Given the description of an element on the screen output the (x, y) to click on. 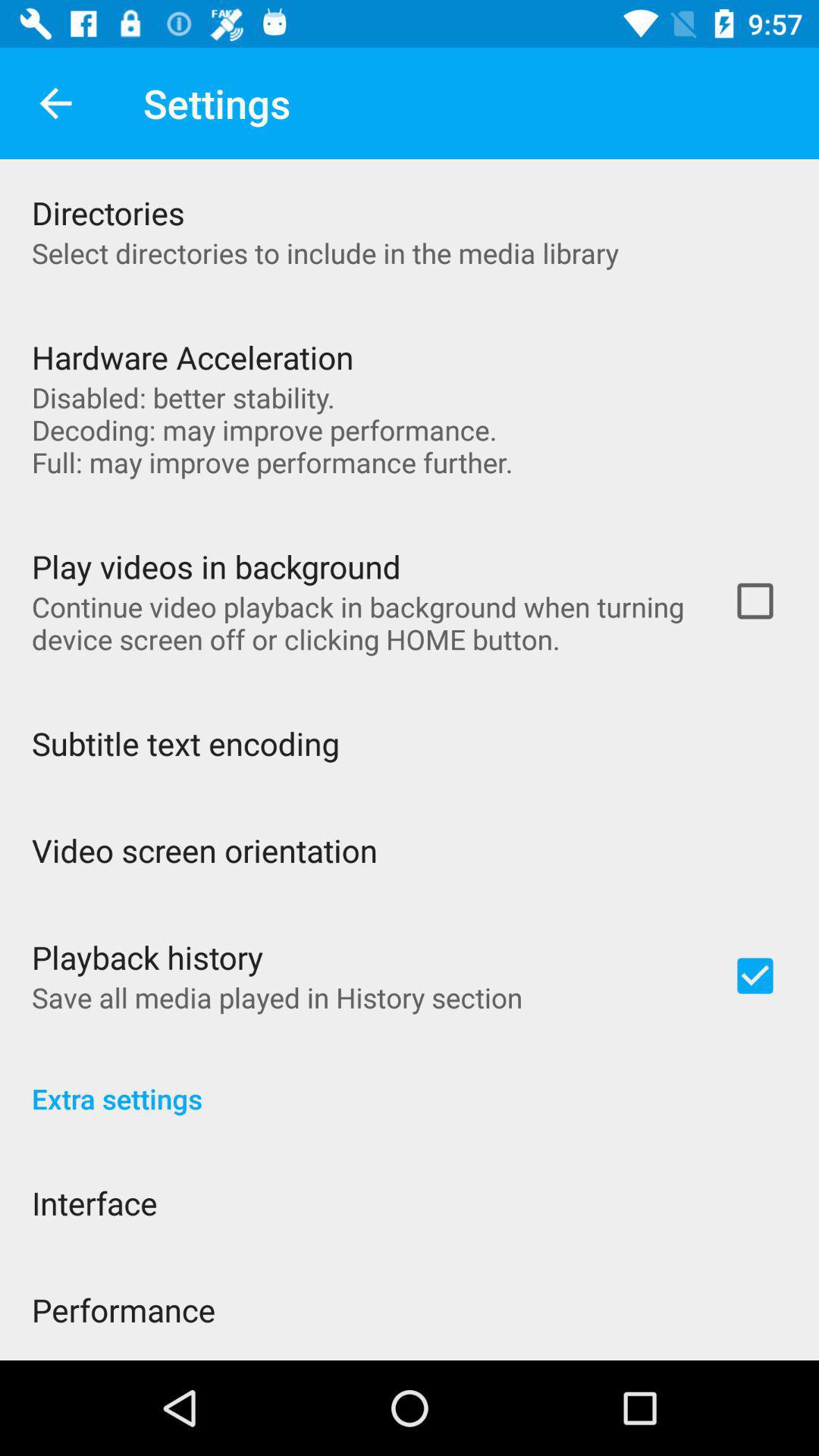
click app next to settings (55, 103)
